Given the description of an element on the screen output the (x, y) to click on. 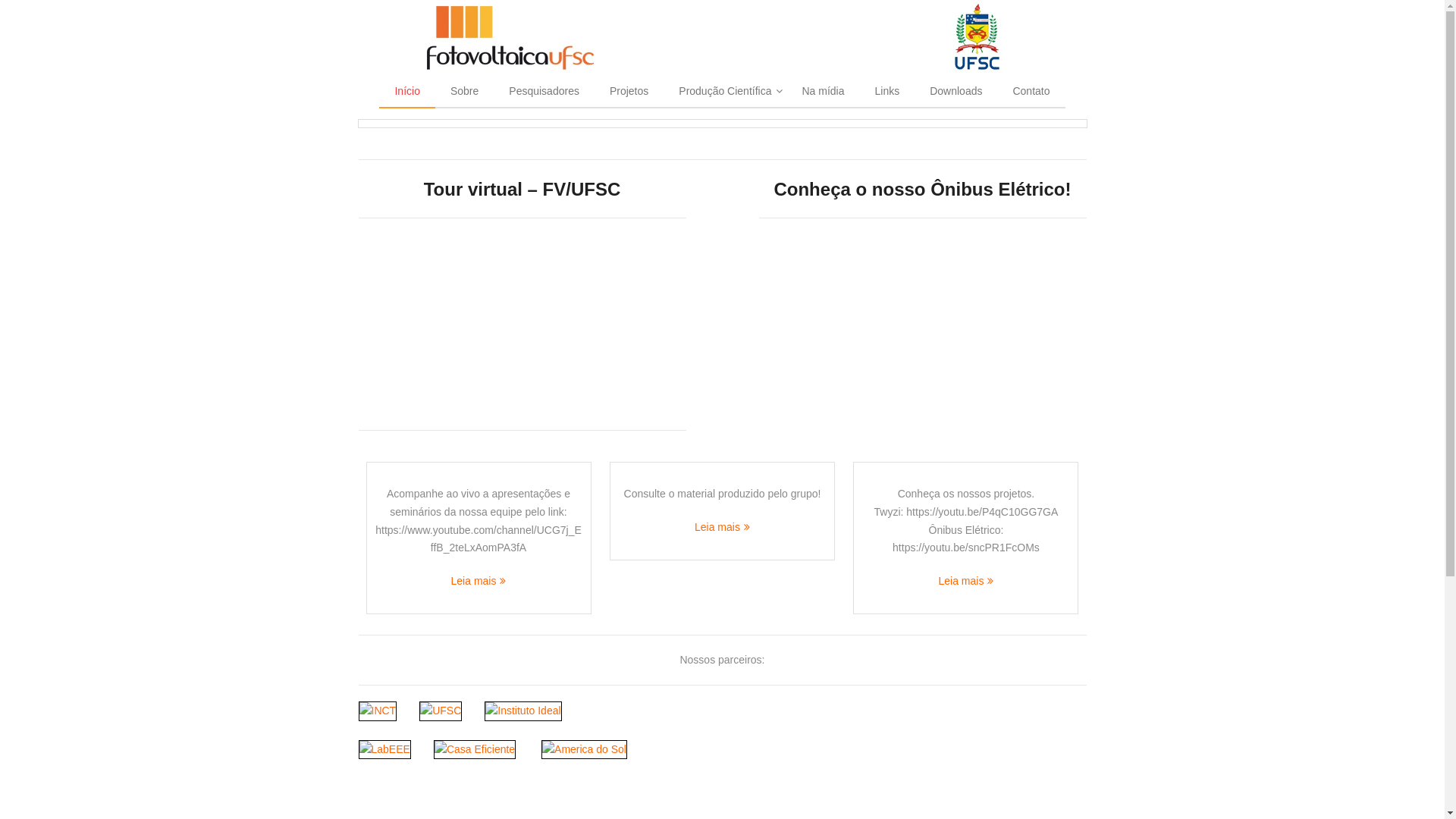
Projetos Element type: text (628, 91)
Leia mais Element type: text (722, 526)
Leia mais Element type: text (965, 580)
Downloads Element type: text (955, 91)
Sobre Element type: text (464, 91)
Contato Element type: text (1030, 91)
Leia mais Element type: text (478, 580)
Pesquisadores Element type: text (543, 91)
Links Element type: text (887, 91)
